Given the description of an element on the screen output the (x, y) to click on. 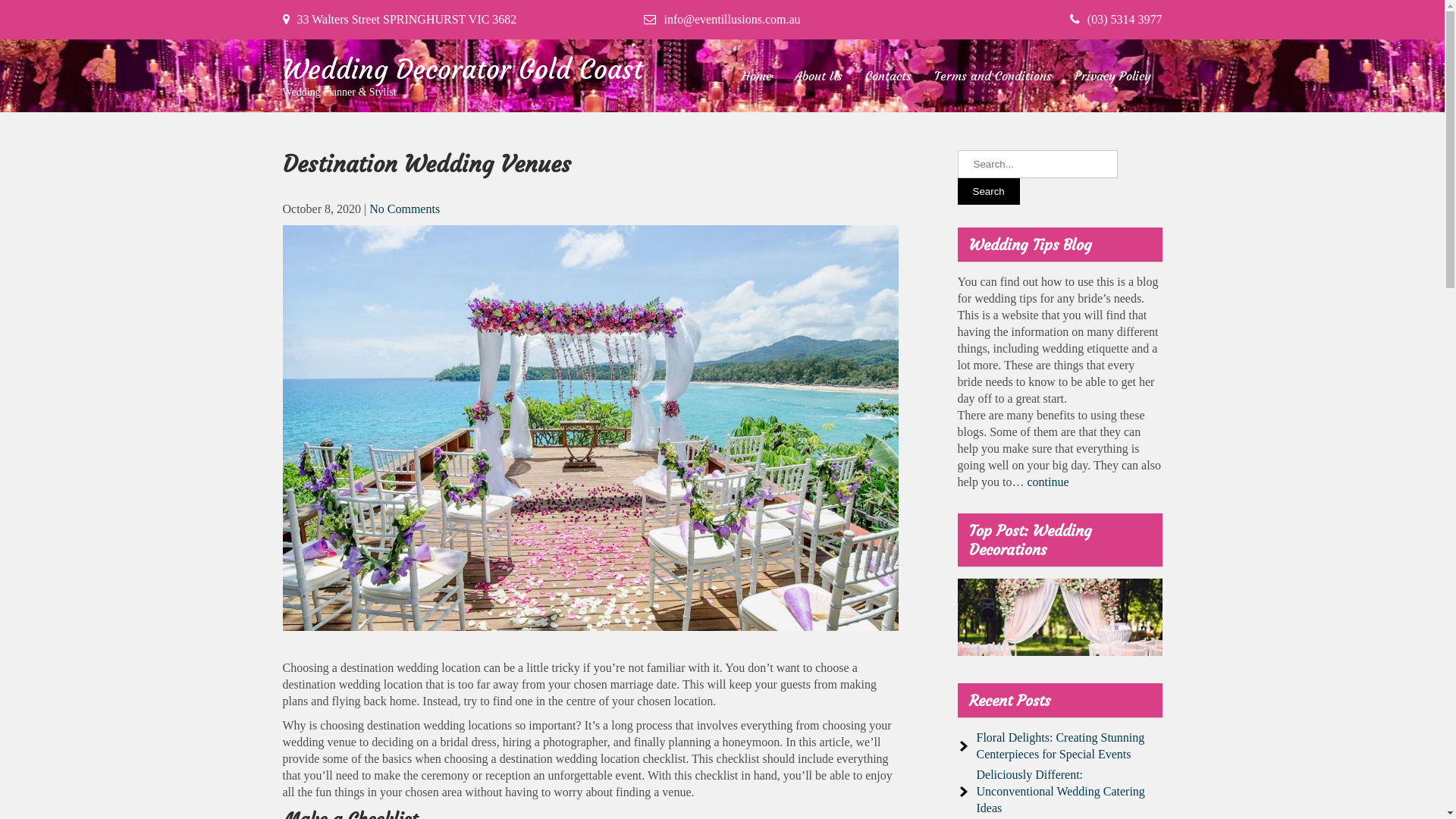
info@eventillusions.com.au Element type: text (731, 18)
About Us Element type: text (818, 75)
Deliciously Different: Unconventional Wedding Catering Ideas Element type: text (1060, 791)
Privacy Policy Element type: text (1111, 75)
Wedding Decorator Gold Coast Element type: text (462, 69)
Home Element type: text (756, 75)
Search Element type: text (988, 191)
No Comments Element type: text (404, 208)
Contacts Element type: text (887, 75)
continue Element type: text (1047, 481)
Terms and Conditions Element type: text (992, 75)
